Given the description of an element on the screen output the (x, y) to click on. 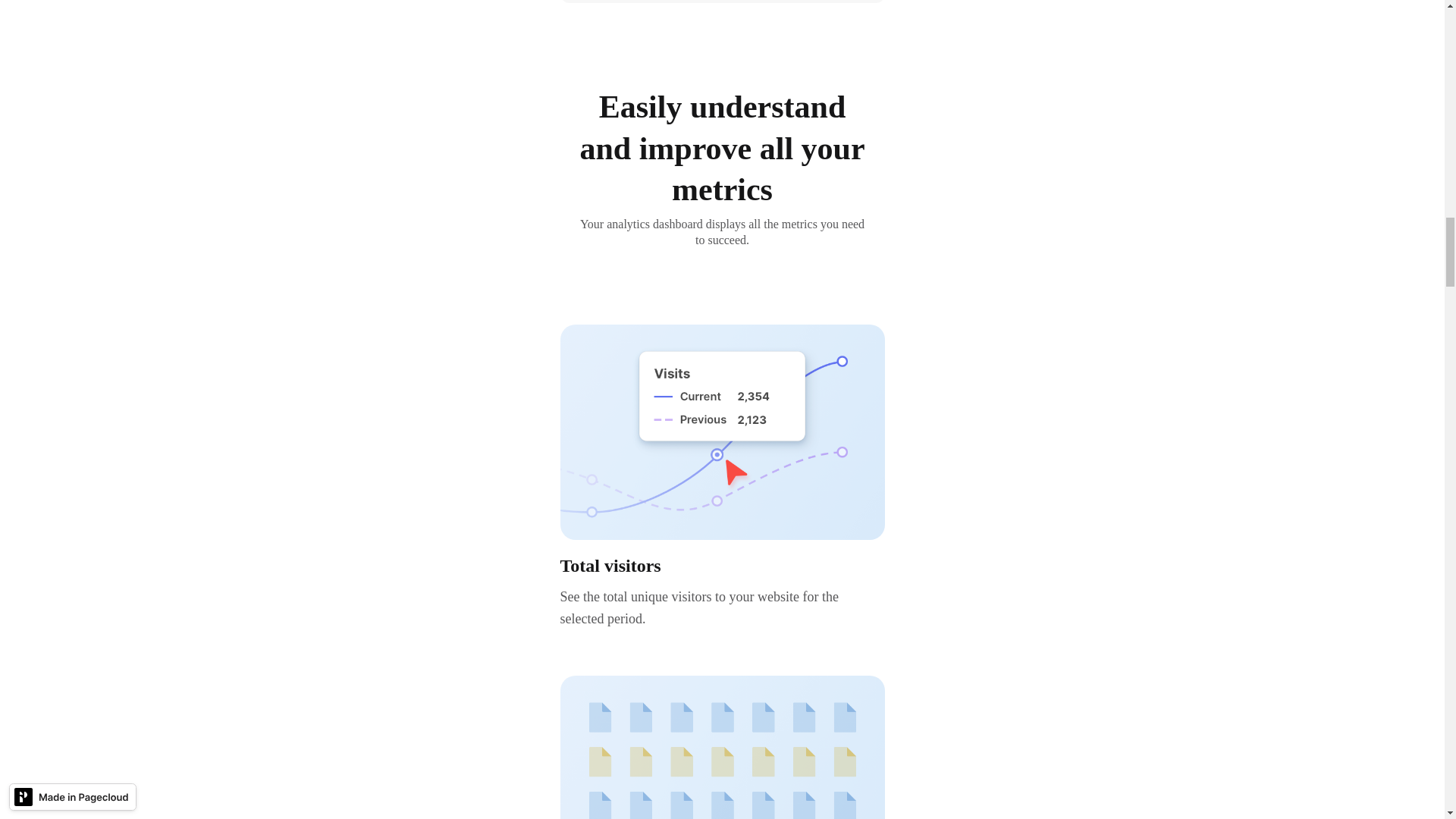
Analytics and seo tools (721, 747)
Free .mypagecloud.com domain (721, 432)
